Given the description of an element on the screen output the (x, y) to click on. 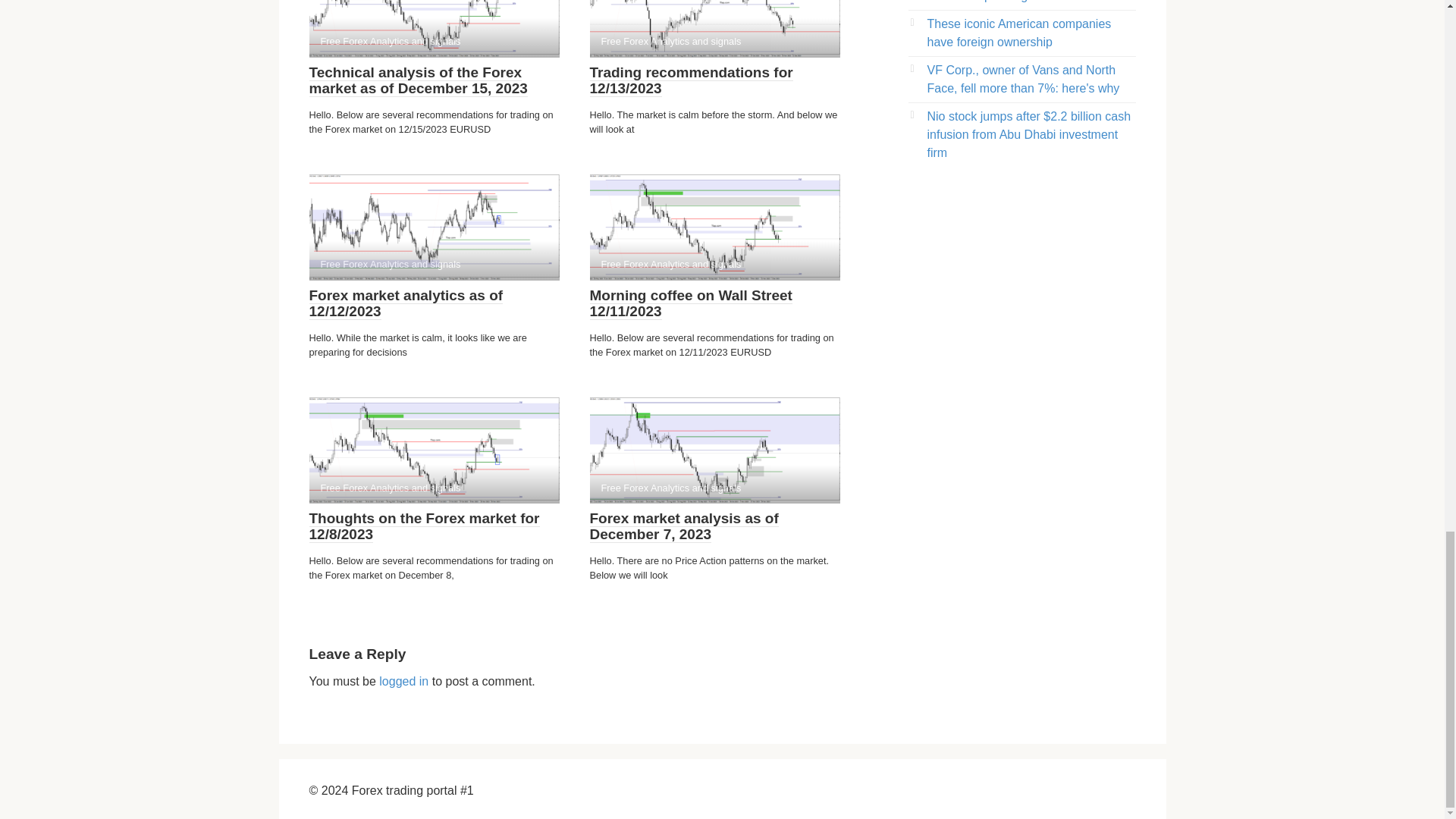
Free Forex Analytics and signals (433, 227)
Free Forex Analytics and signals (714, 227)
Free Forex Analytics and signals (433, 450)
Free Forex Analytics and signals (714, 28)
Free Forex Analytics and signals (714, 450)
Forex market analysis as of December 7, 2023 (683, 526)
These iconic American companies have foreign ownership (1018, 32)
Free Forex Analytics and signals (433, 28)
logged in (403, 680)
